Given the description of an element on the screen output the (x, y) to click on. 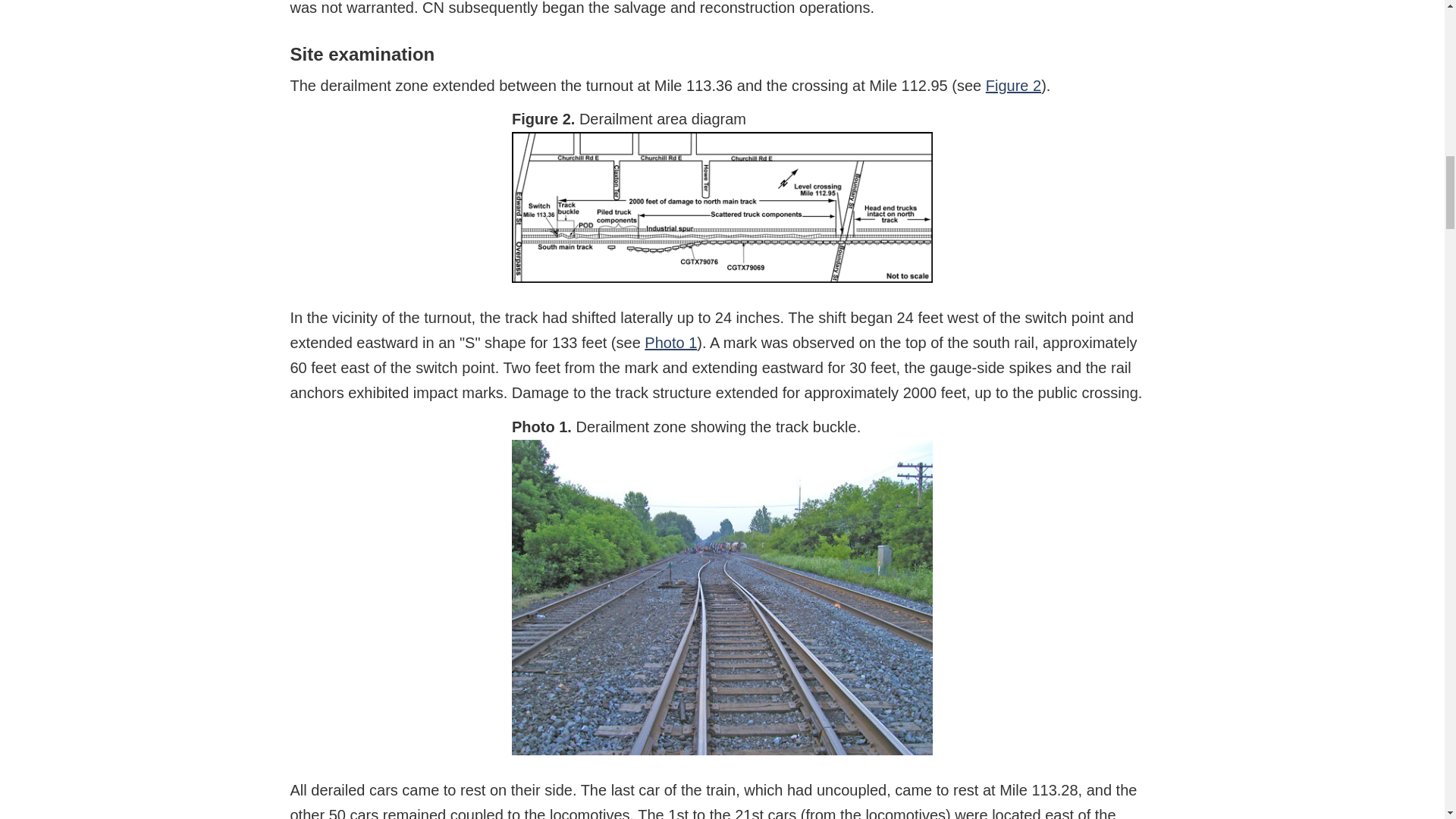
Photo 1. Derailment zone showing the track buckle (722, 597)
Figure 2 (1013, 85)
Figure 2. Derailment area diagram (722, 206)
Photo 1 (671, 342)
